Given the description of an element on the screen output the (x, y) to click on. 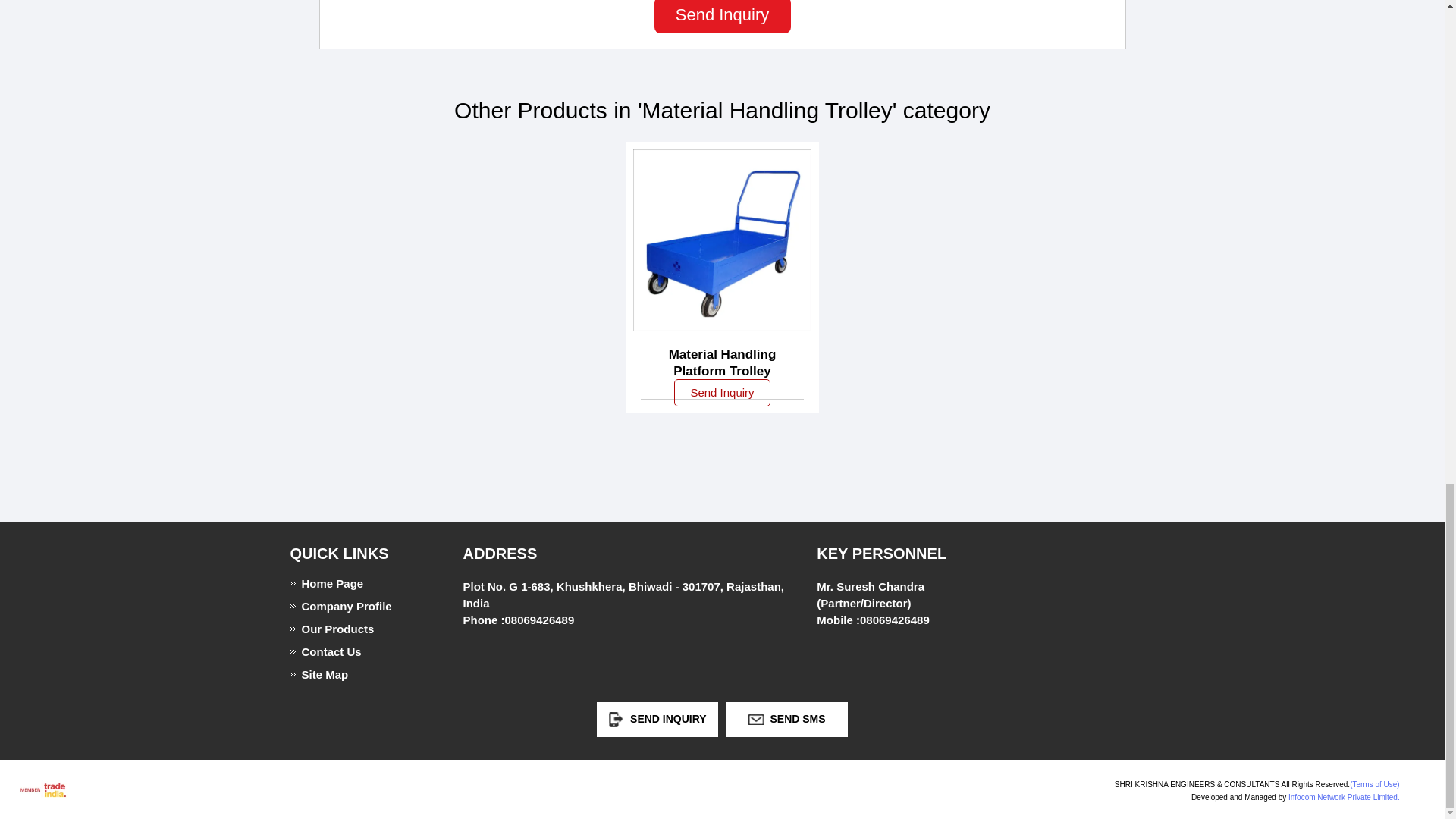
Send Inquiry (721, 16)
Material Handling Platform Trolley (721, 363)
SEND INQUIRY (657, 717)
Contact Us (354, 651)
Our Products (354, 628)
Infocom Network Private Limited. (1343, 797)
Send Inquiry (722, 392)
Send SMS (755, 719)
Site Map (354, 674)
Send Inquiry (615, 719)
Company Profile (354, 605)
Home Page (354, 583)
SEND SMS (786, 717)
